Given the description of an element on the screen output the (x, y) to click on. 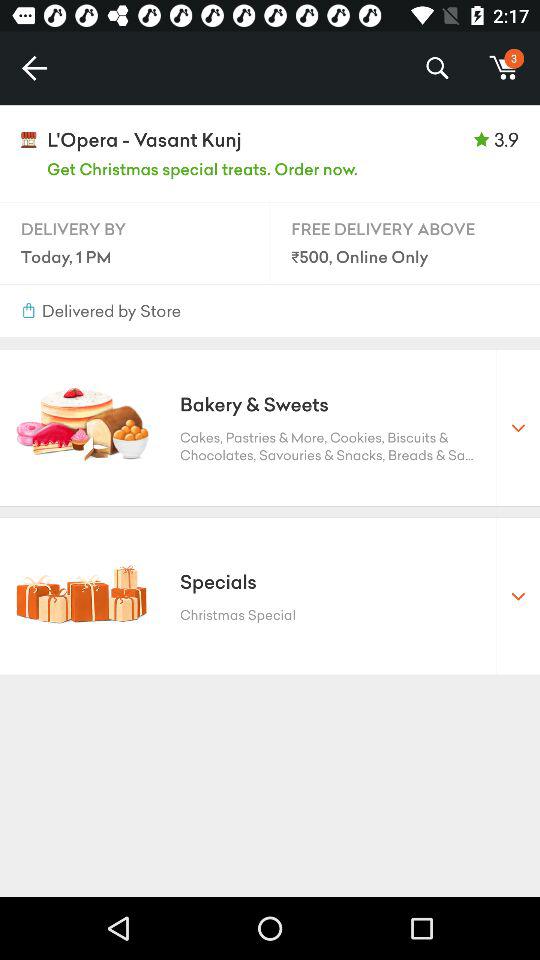
choose icon next to the % (503, 67)
